Given the description of an element on the screen output the (x, y) to click on. 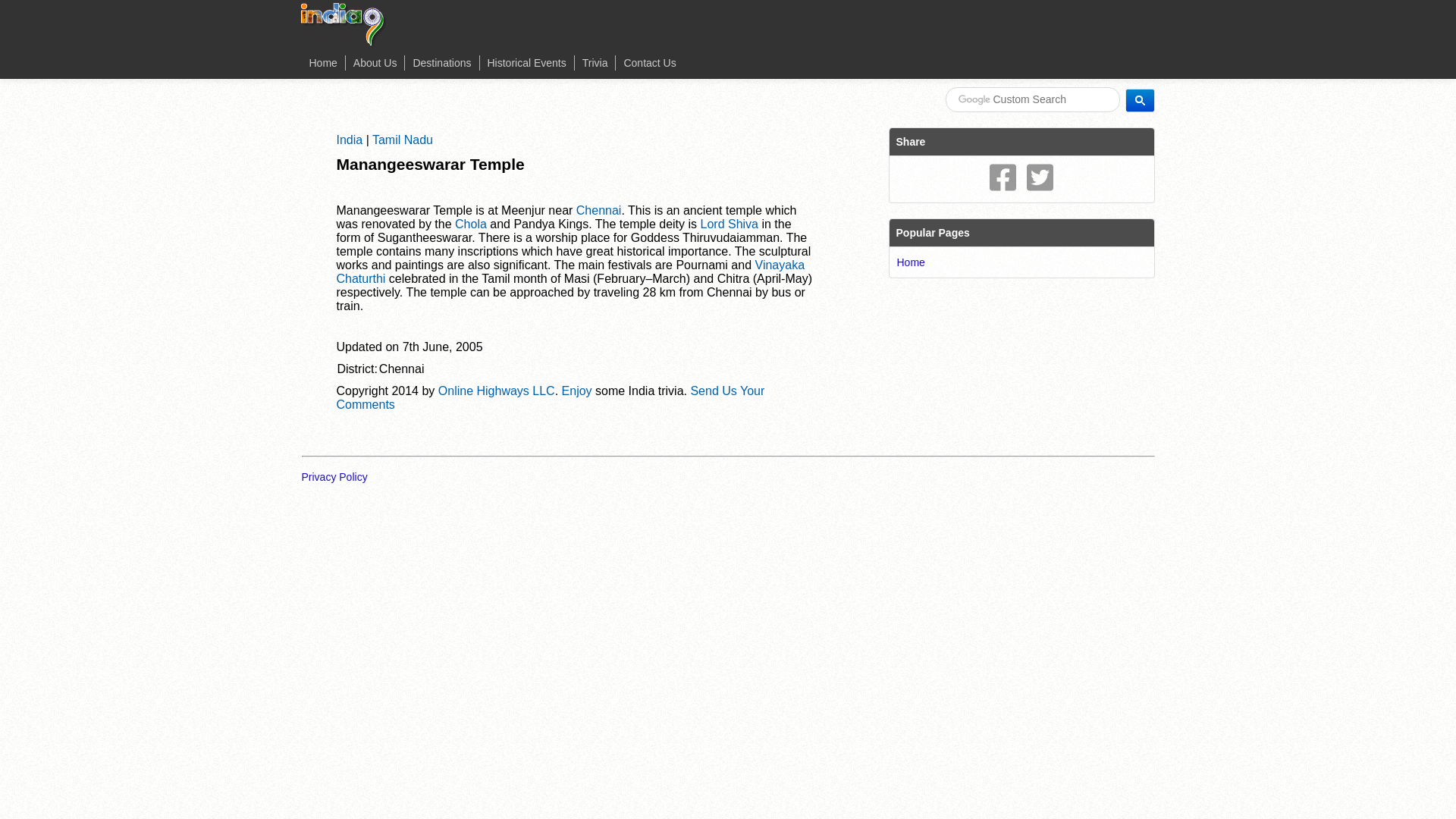
search (1032, 98)
Vinayaka Chaturthi (570, 271)
Tamil Nadu (402, 139)
Privacy Policy (339, 476)
Home (322, 62)
search (1139, 99)
Home (910, 262)
Contact Us (649, 62)
State (402, 139)
Historical Events (526, 62)
